Given the description of an element on the screen output the (x, y) to click on. 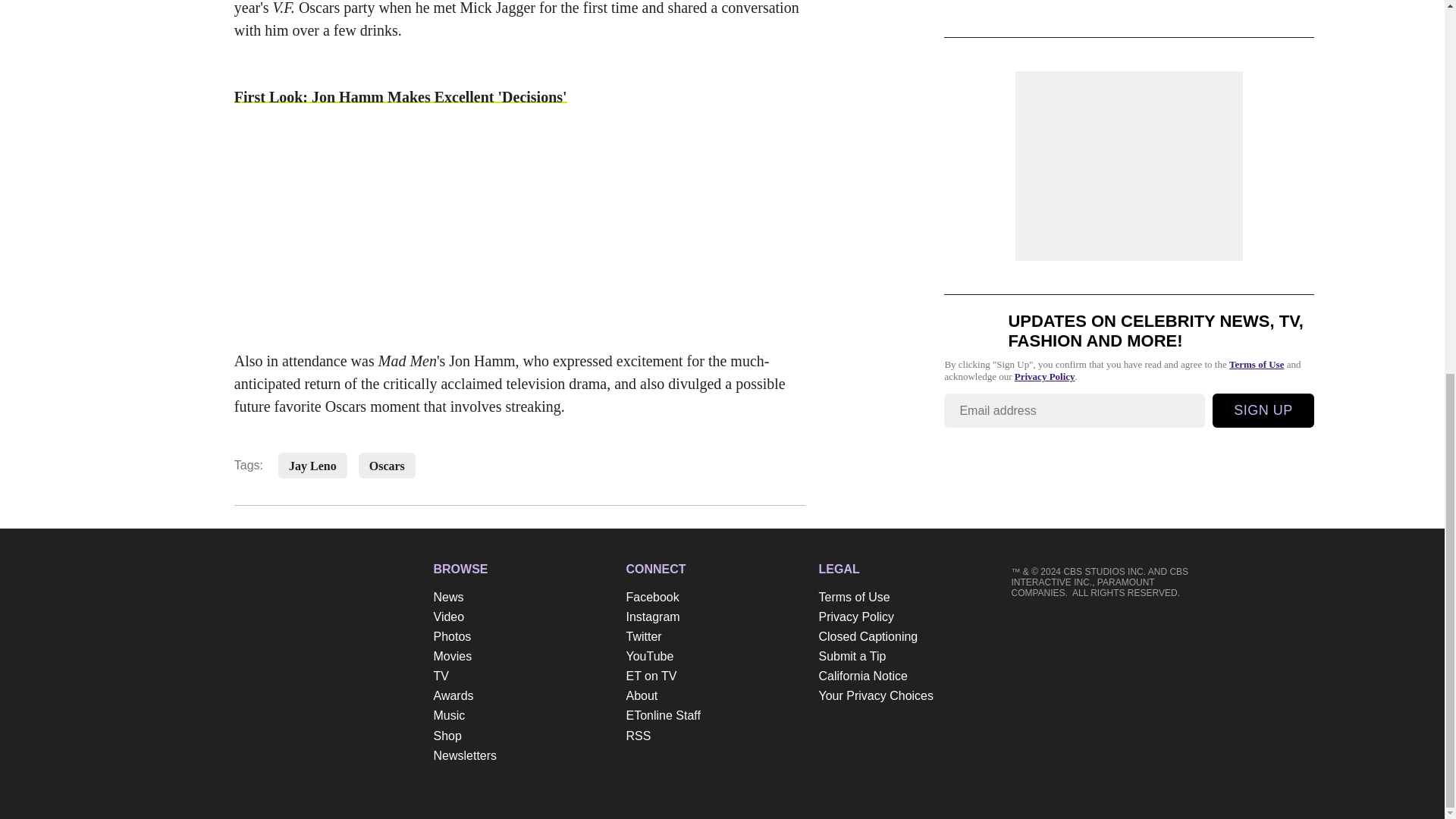
Jay Leno (312, 466)
Oscars (386, 466)
First Look: Jon Hamm Makes Excellent 'Decisions' (400, 107)
